Given the description of an element on the screen output the (x, y) to click on. 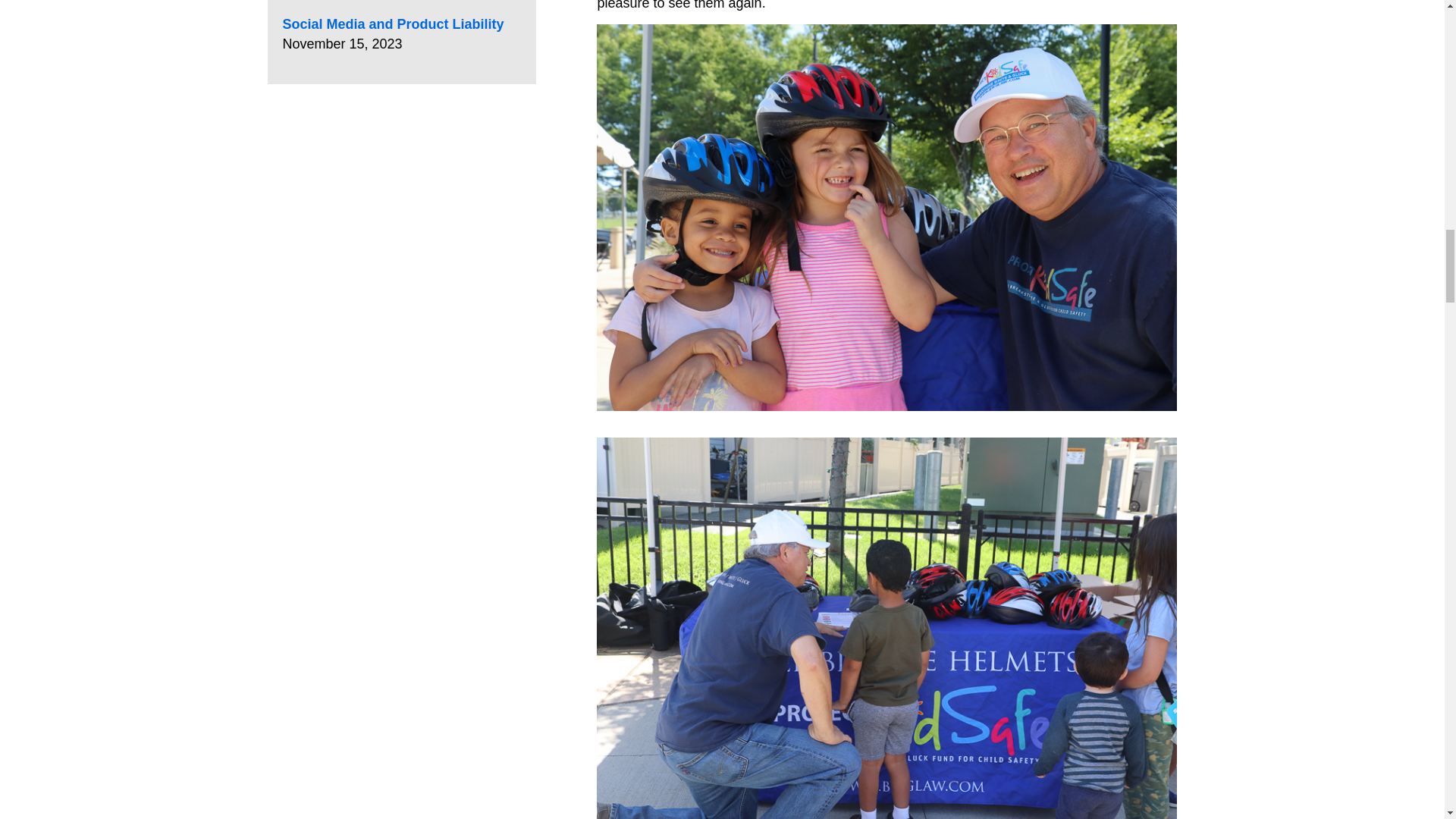
Social Media and Product Liability (392, 23)
